Given the description of an element on the screen output the (x, y) to click on. 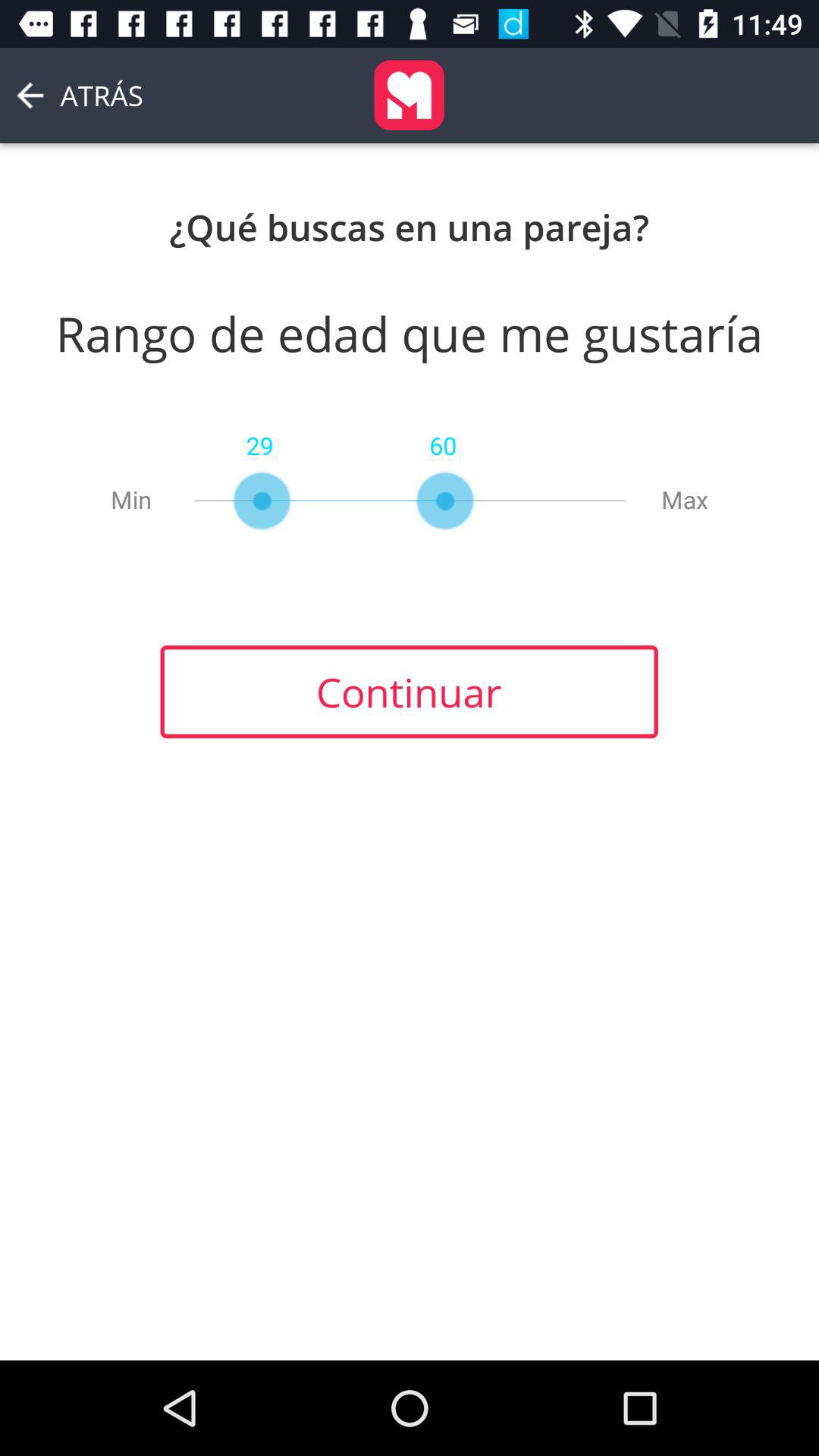
turn on the continuar icon (409, 691)
